Given the description of an element on the screen output the (x, y) to click on. 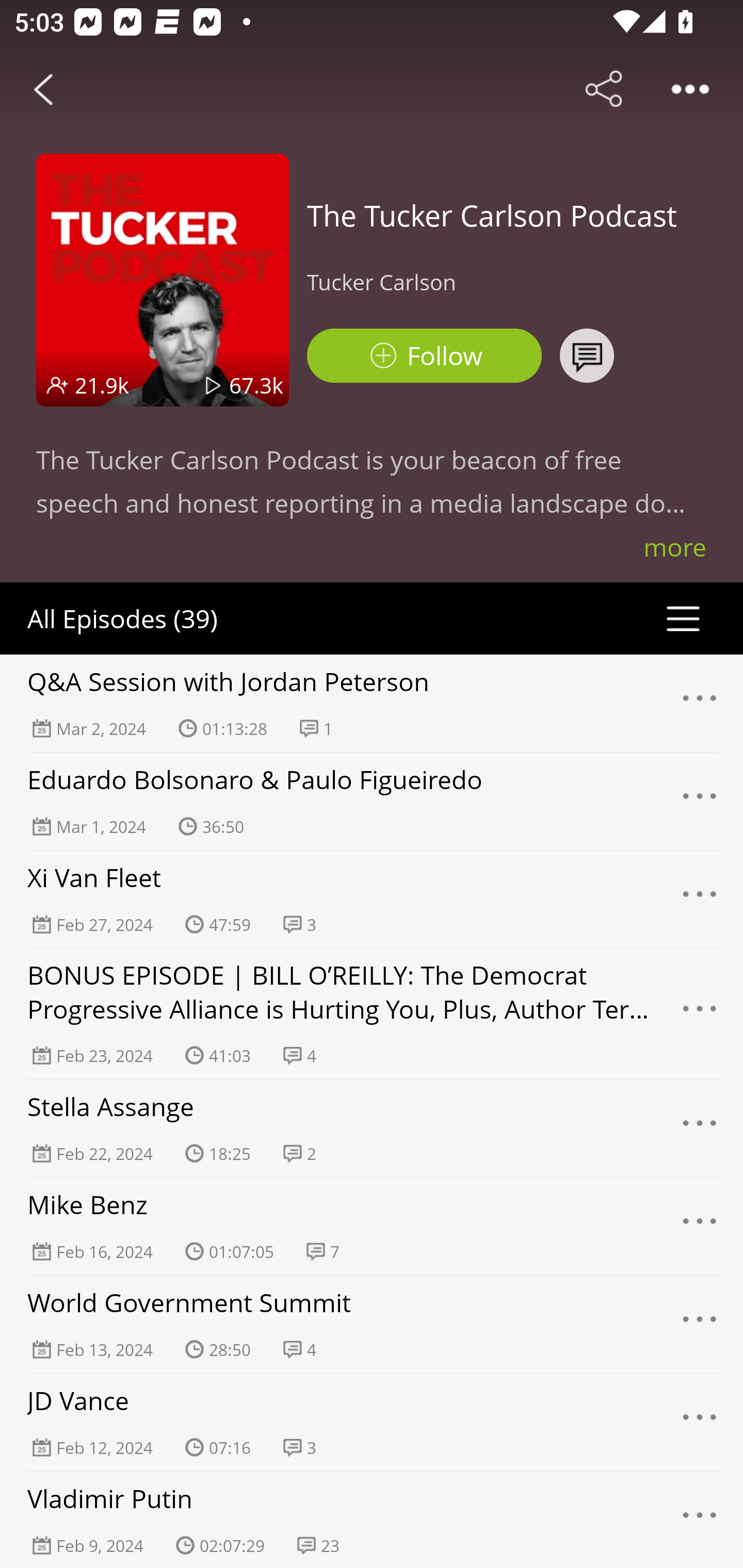
Back (43, 88)
Podbean Follow (423, 355)
21.9k (102, 384)
more (674, 546)
Menu (699, 703)
Menu (699, 801)
Xi Van Fleet Feb 27, 2024 47:59 3 Menu (371, 898)
Menu (699, 899)
Menu (699, 1013)
Stella Assange Feb 22, 2024 18:25 2 Menu (371, 1127)
Menu (699, 1128)
Mike Benz Feb 16, 2024 01:07:05 7 Menu (371, 1225)
Menu (699, 1226)
World Government Summit Feb 13, 2024 28:50 4 Menu (371, 1323)
Menu (699, 1324)
JD Vance Feb 12, 2024 07:16 3 Menu (371, 1421)
Menu (699, 1422)
Vladimir Putin Feb 9, 2024 02:07:29 23 Menu (371, 1519)
Menu (699, 1520)
